Given the description of an element on the screen output the (x, y) to click on. 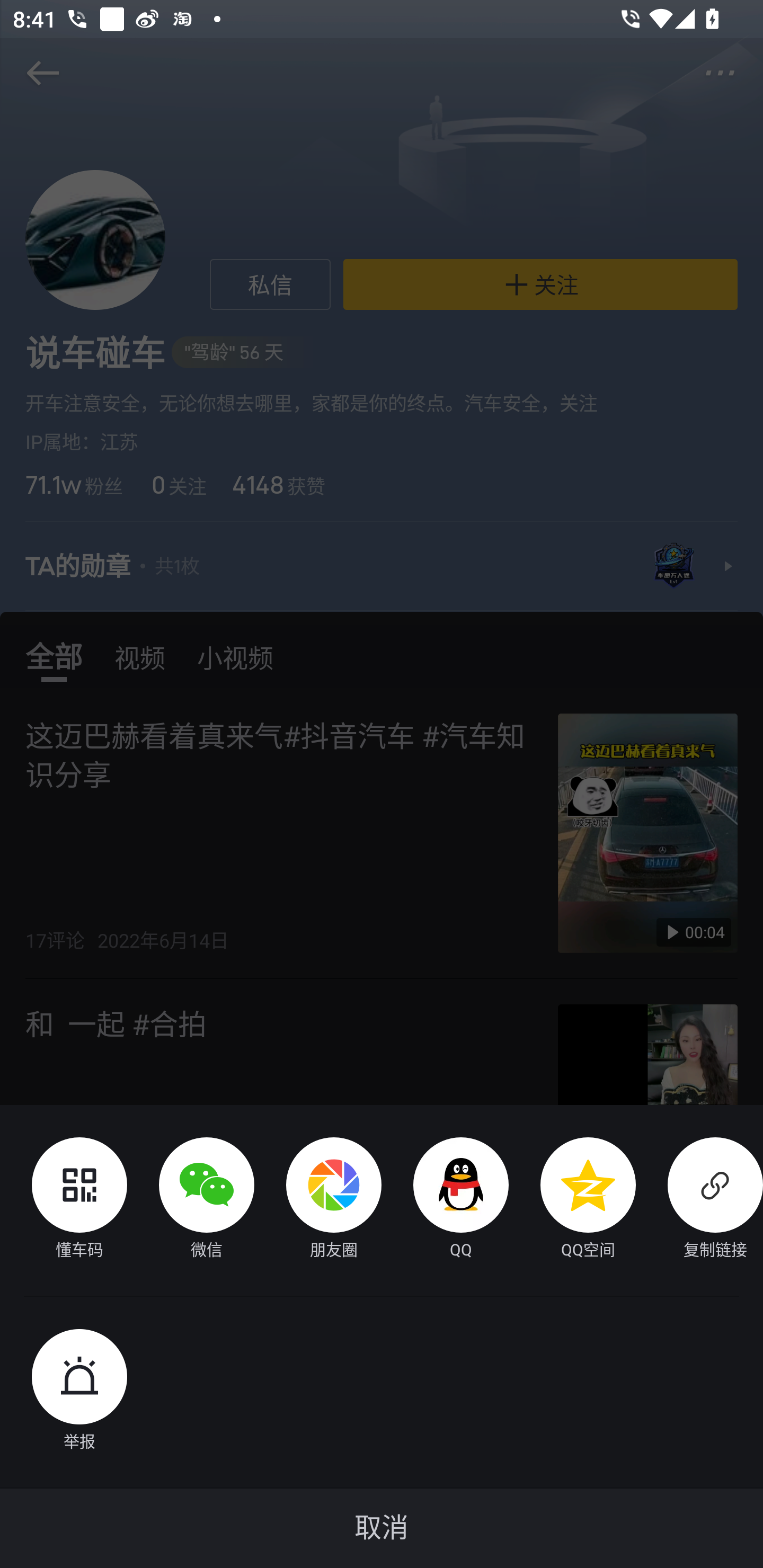
懂车码 (63, 1200)
微信 (190, 1200)
朋友圈 (317, 1200)
QQ (444, 1200)
QQ空间 (571, 1200)
复制链接 (699, 1200)
 举报 (63, 1392)
取消 (381, 1528)
